Given the description of an element on the screen output the (x, y) to click on. 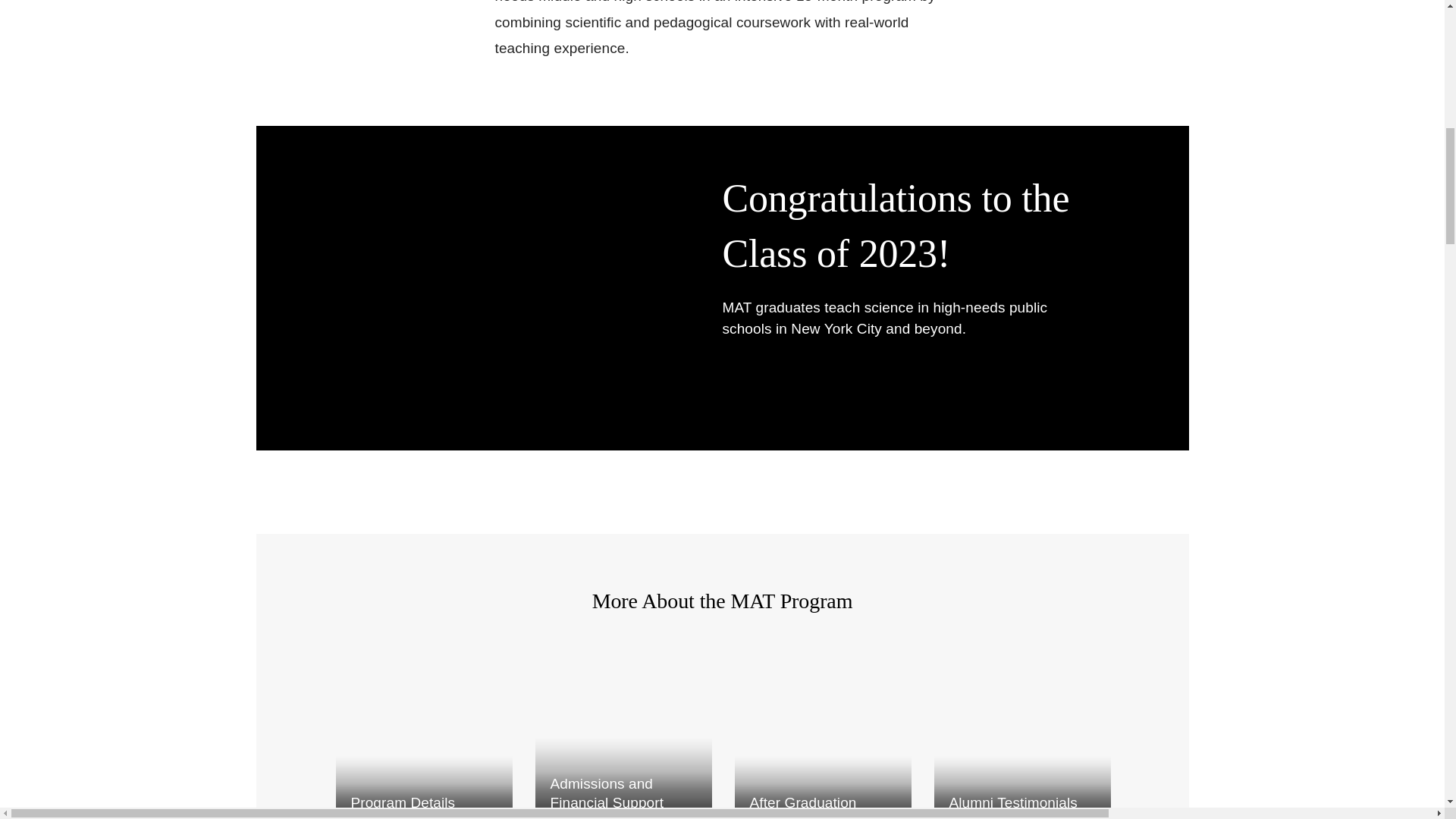
Admissions and Financial Support (623, 733)
Program Details (423, 733)
After Graduation (822, 733)
Alumni Testimonials (1022, 733)
